Given the description of an element on the screen output the (x, y) to click on. 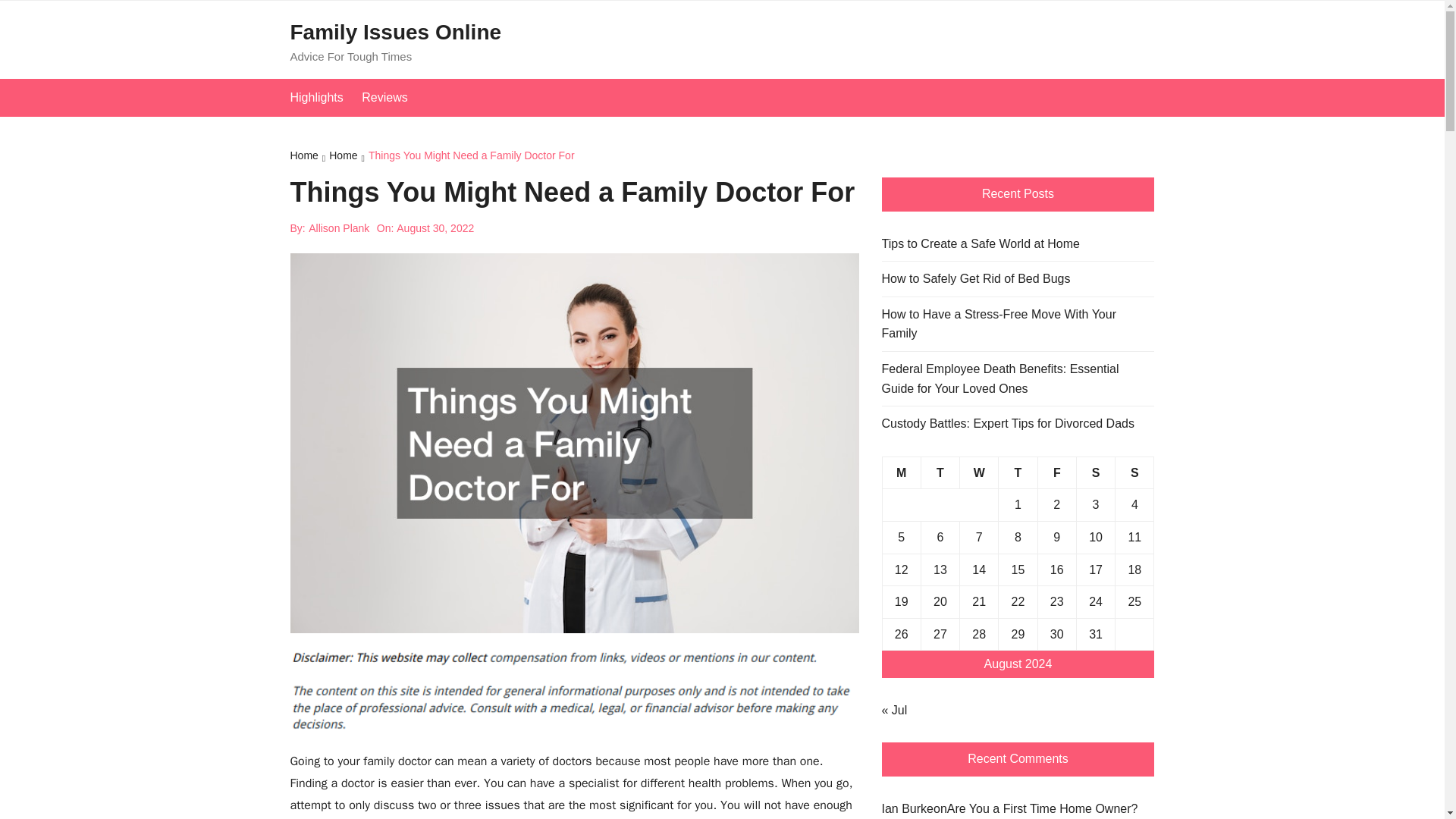
Wednesday (978, 472)
Thursday (1017, 472)
How to Safely Get Rid of Bed Bugs (975, 279)
How to Have a Stress-Free Move With Your Family (1017, 323)
Tuesday (939, 472)
Ian Burke (906, 808)
Highlights (323, 97)
Monday (901, 472)
Saturday (1095, 472)
Sunday (1134, 472)
